Given the description of an element on the screen output the (x, y) to click on. 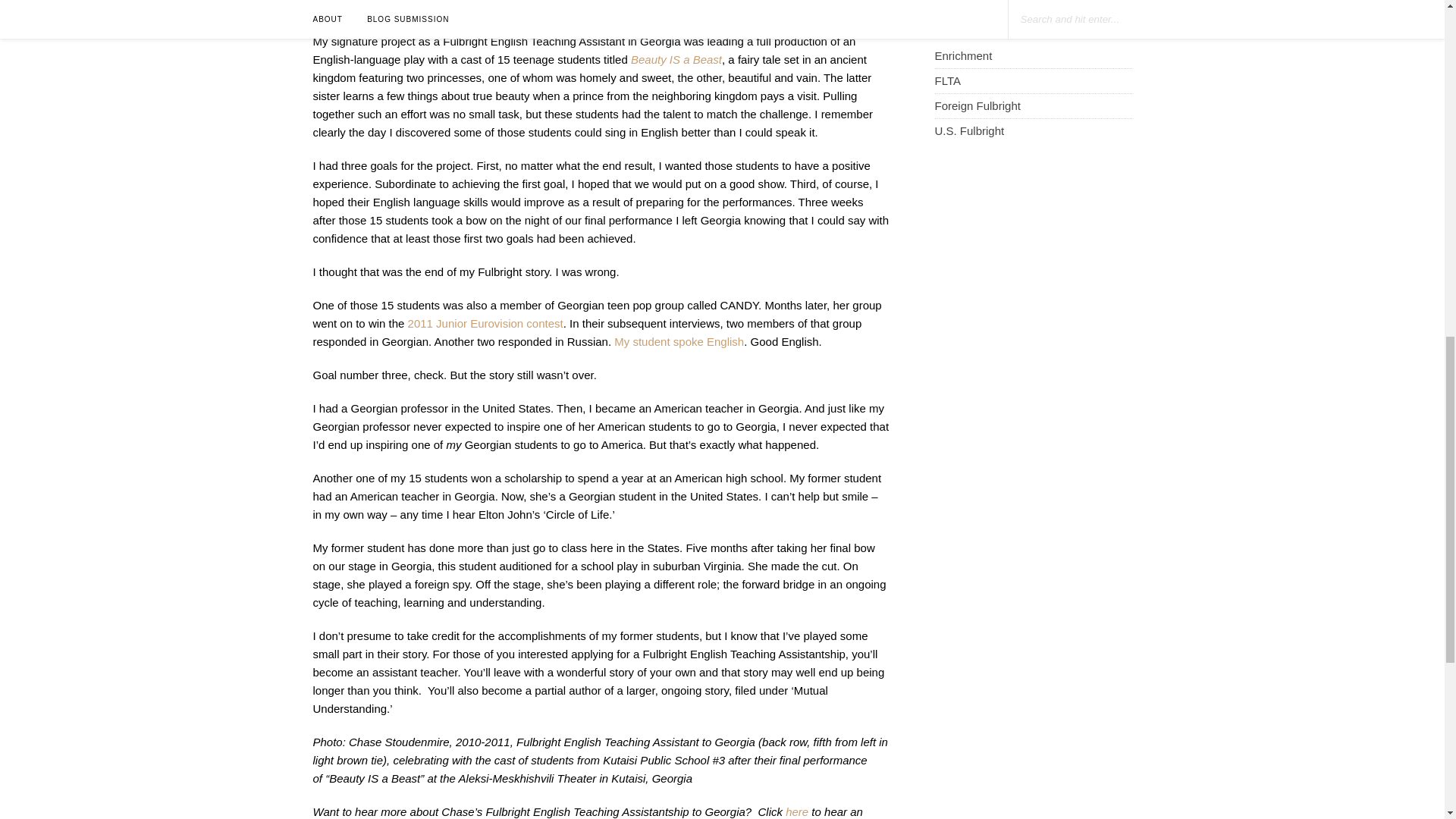
Beauty IS a Beast (676, 87)
My student spoke English (679, 369)
2011 Junior Eurovision contest (485, 350)
